Given the description of an element on the screen output the (x, y) to click on. 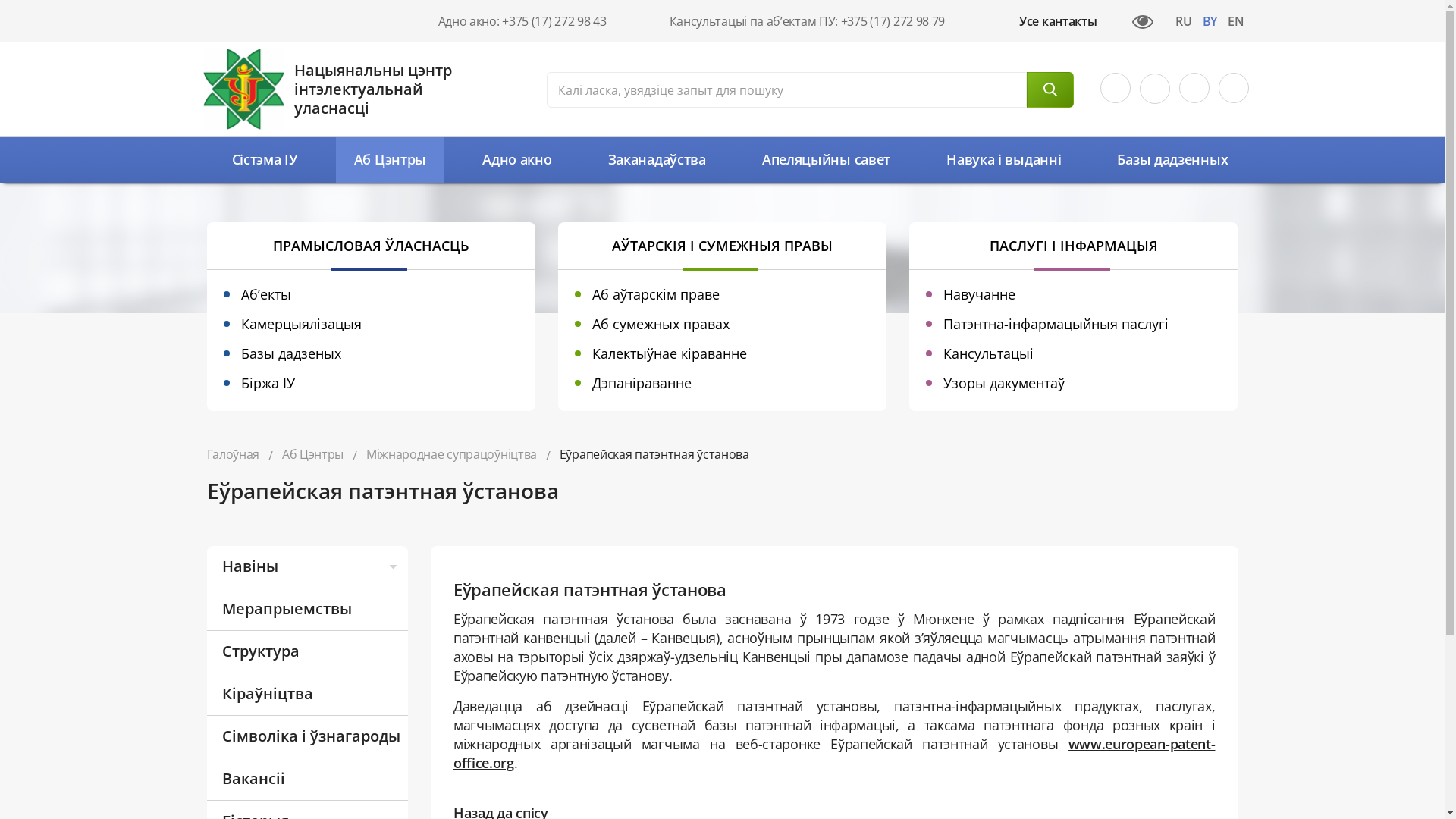
BY Element type: text (1209, 21)
www.european-patent-office.org Element type: text (834, 752)
EN Element type: text (1235, 21)
RU Element type: text (1183, 21)
